Given the description of an element on the screen output the (x, y) to click on. 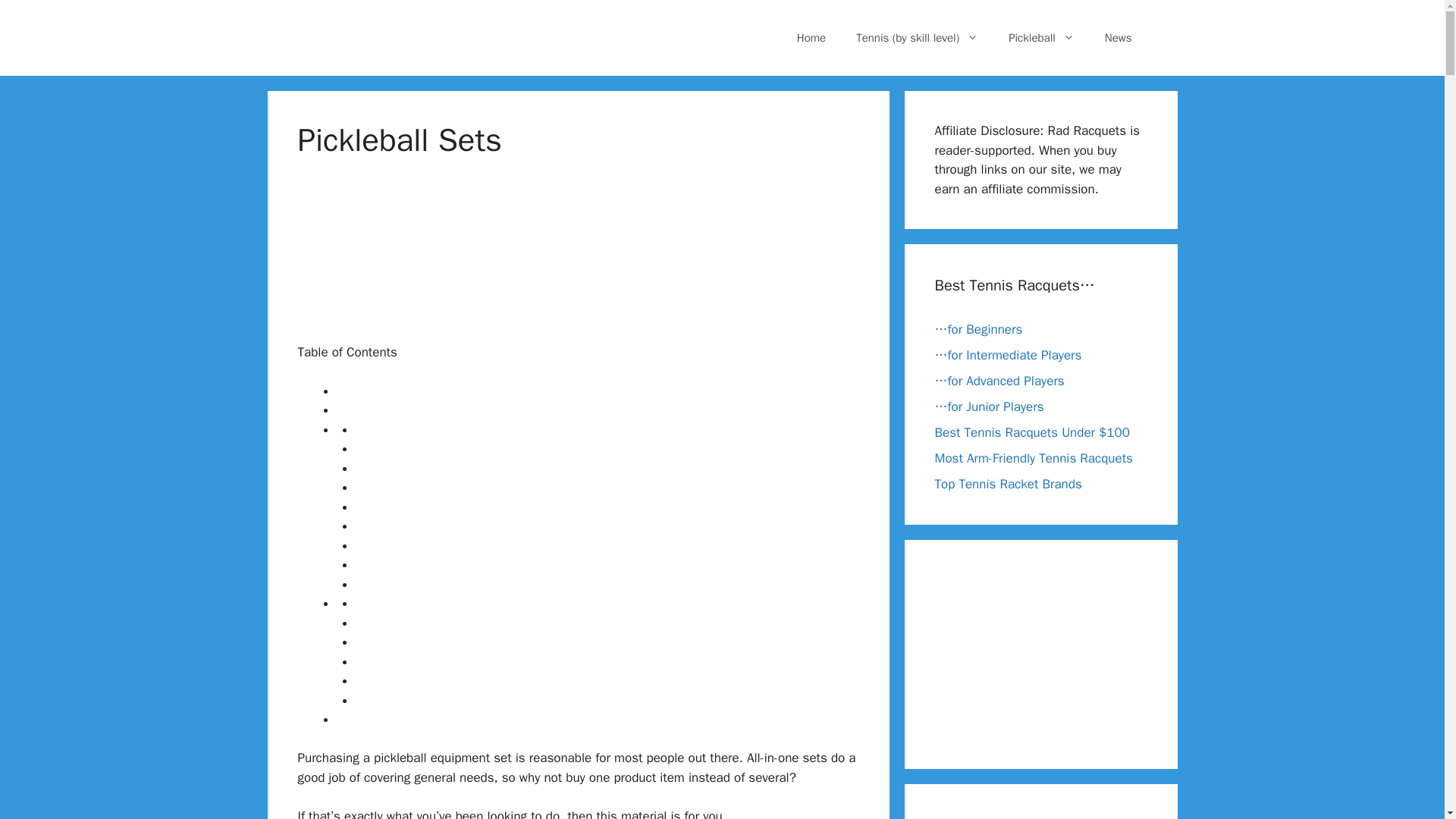
Pickleball (1040, 37)
Home (811, 37)
News (1118, 37)
